Given the description of an element on the screen output the (x, y) to click on. 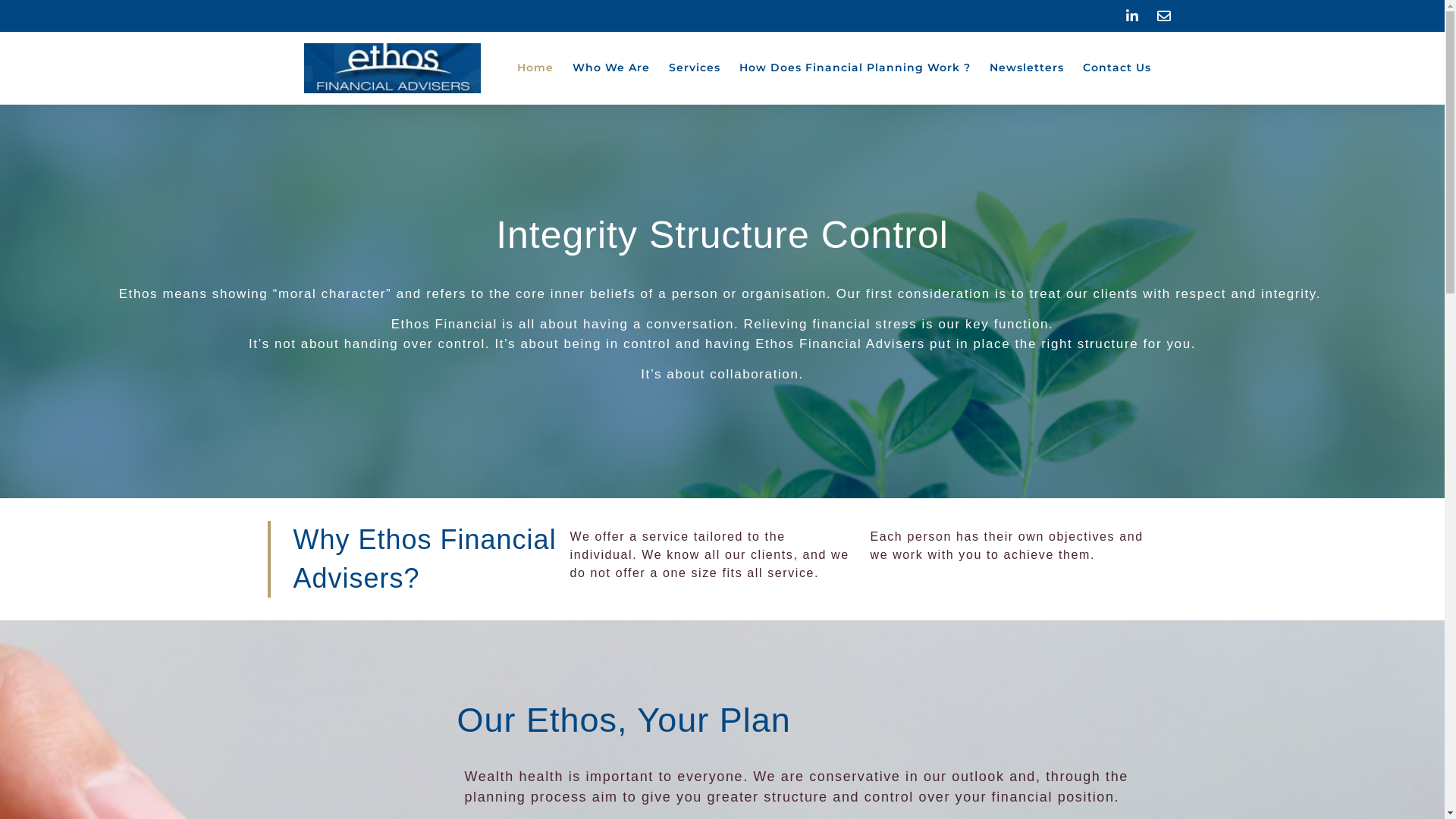
Home Element type: text (535, 67)
Contact Us Element type: text (1116, 67)
Who We Are Element type: text (610, 67)
How Does Financial Planning Work ? Element type: text (853, 67)
Newsletters Element type: text (1025, 67)
Services Element type: text (694, 67)
